Given the description of an element on the screen output the (x, y) to click on. 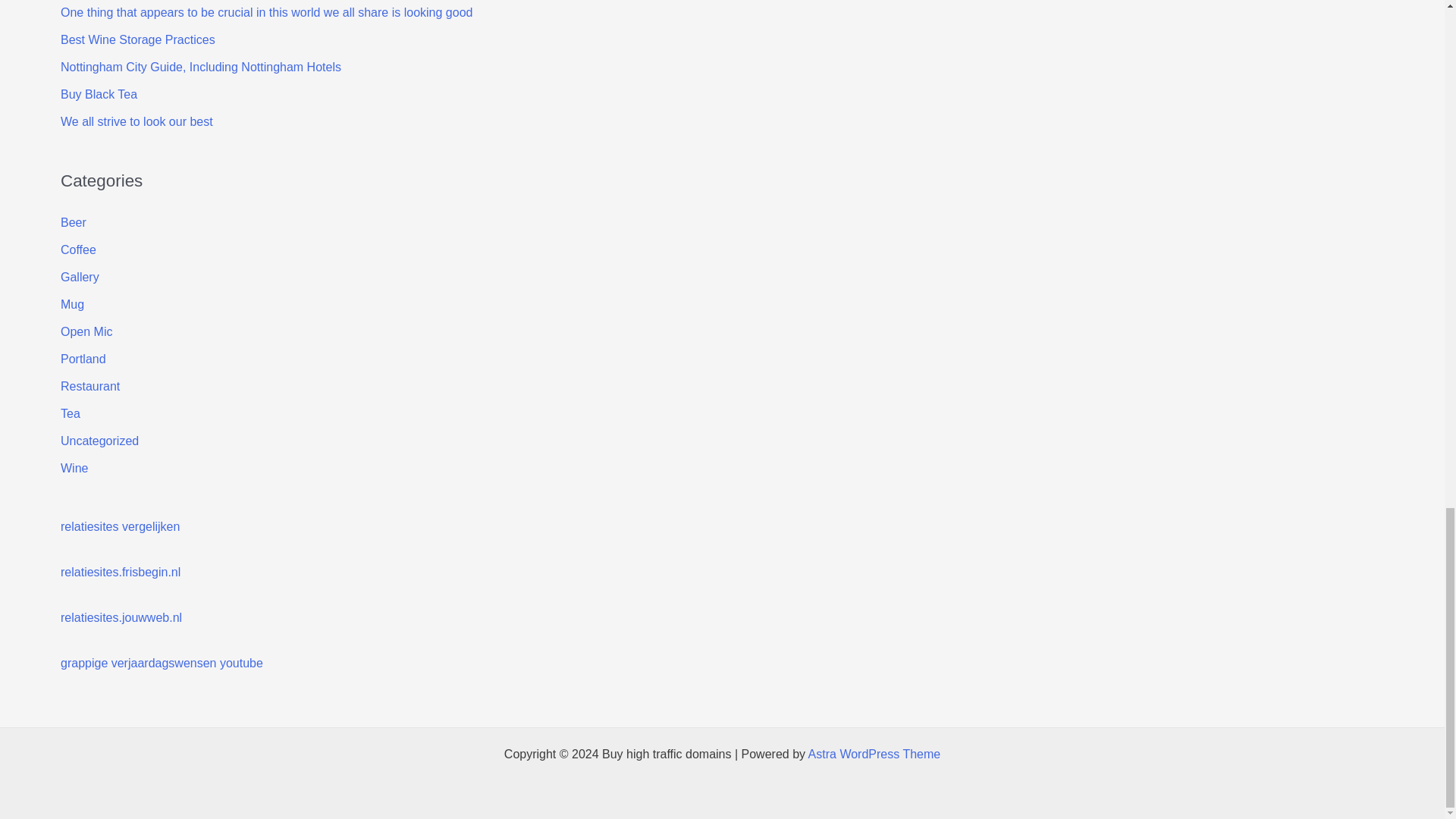
Coffee (78, 249)
Restaurant (90, 386)
relatiesites.frisbegin.nl (120, 571)
Best Wine Storage Practices (138, 39)
Open Mic (86, 331)
Portland (83, 358)
Wine (74, 468)
grappige verjaardagswensen youtube (162, 662)
relatiesites vergelijken (120, 526)
